Given the description of an element on the screen output the (x, y) to click on. 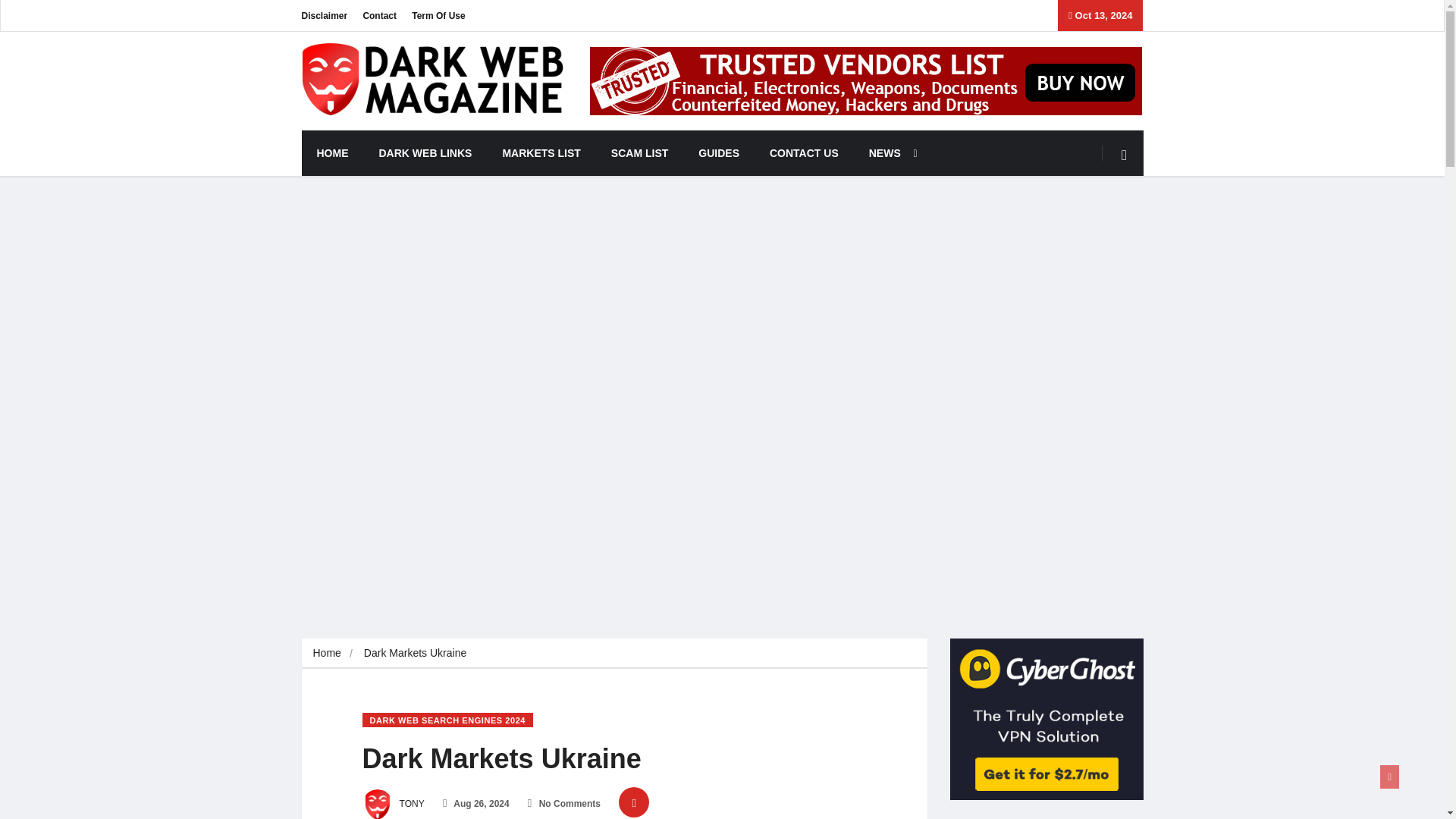
GUIDES (718, 153)
HOME (332, 153)
DARK WEB SEARCH ENGINES 2024 (448, 719)
Home (326, 653)
Disclaimer (324, 15)
MARKETS LIST (540, 153)
SCAM LIST (638, 153)
CONTACT US (803, 153)
Contact (379, 15)
TONY (393, 803)
